Given the description of an element on the screen output the (x, y) to click on. 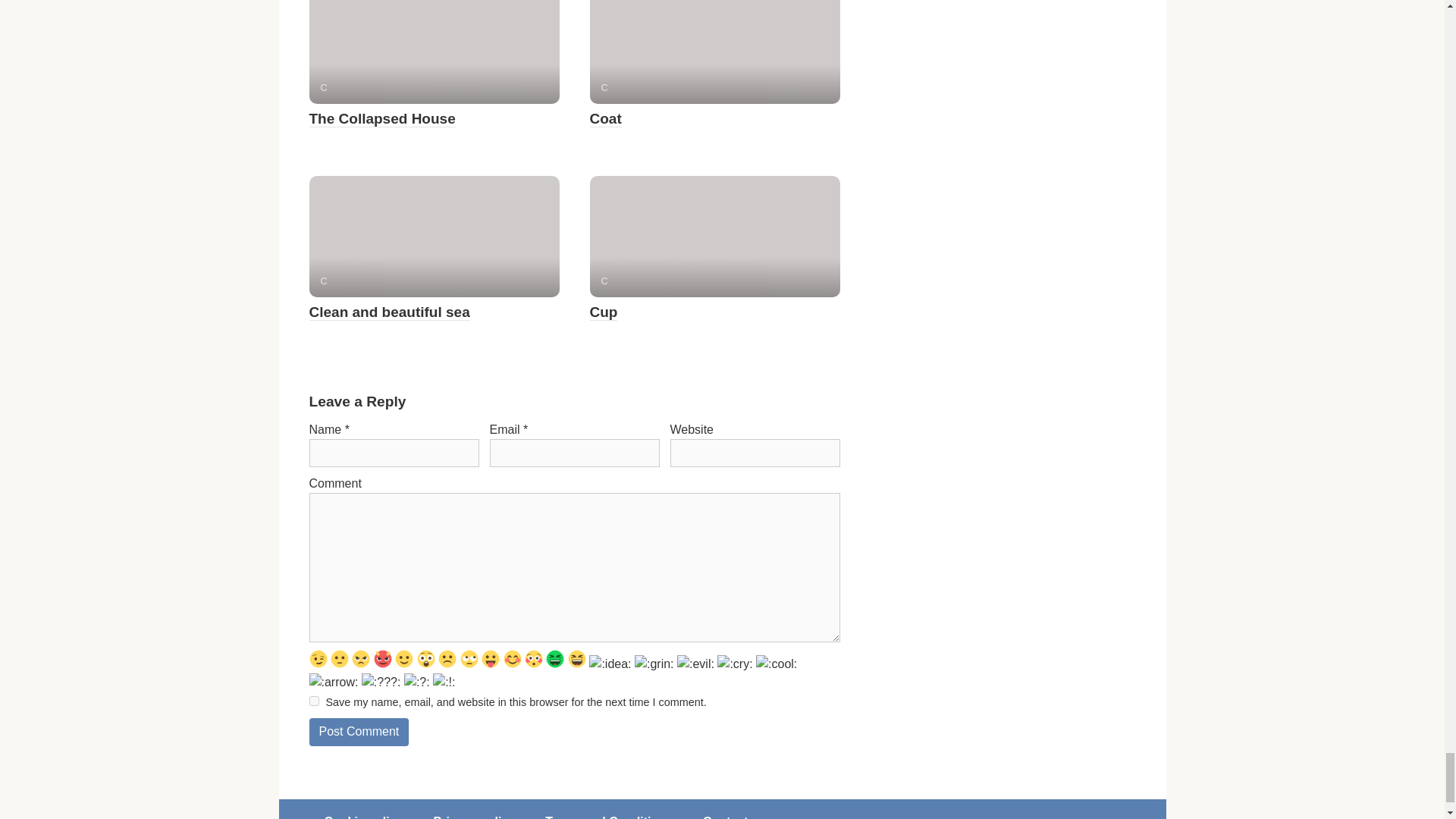
yes (313, 700)
Post Comment (358, 732)
